Given the description of an element on the screen output the (x, y) to click on. 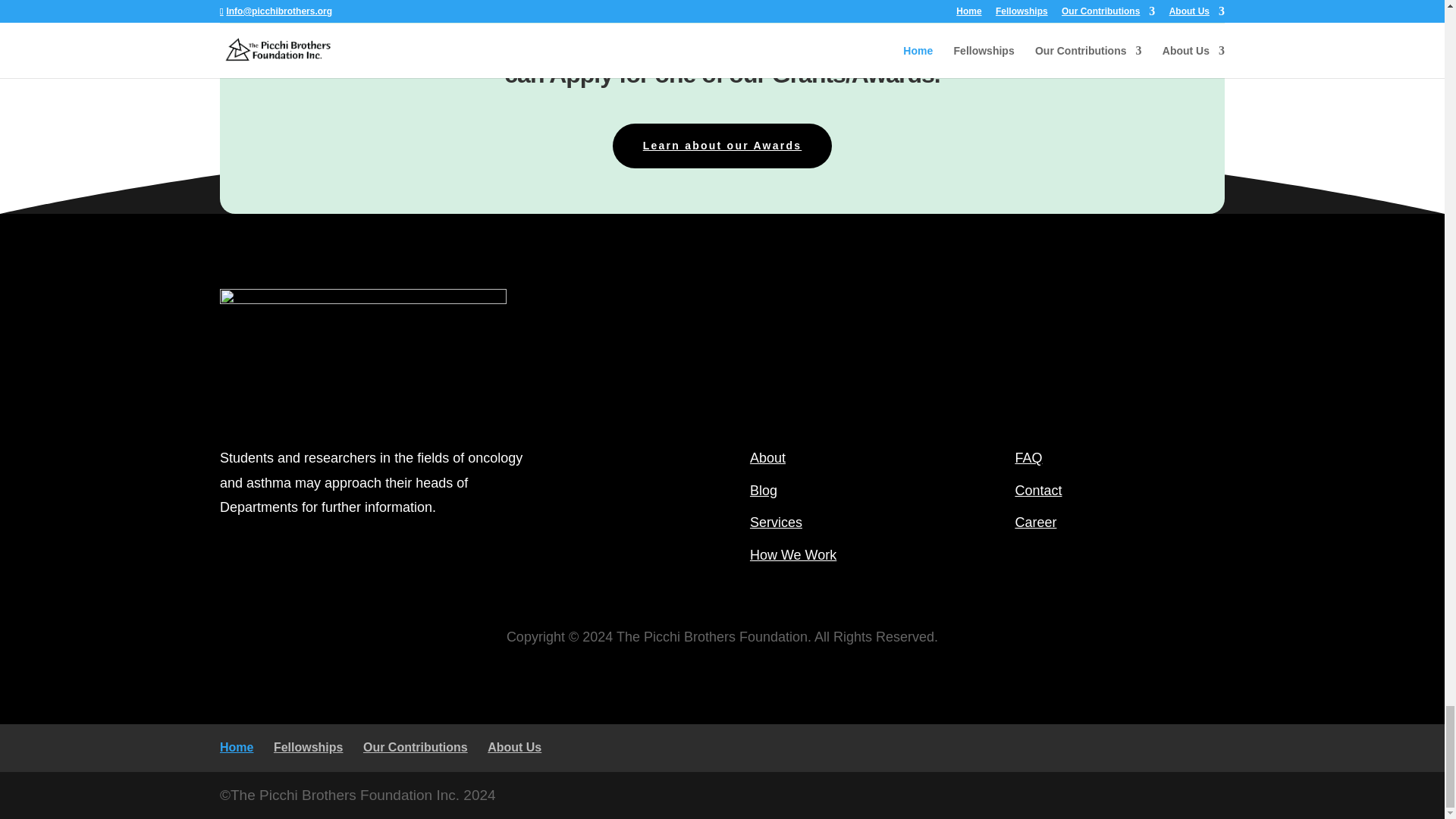
PicchiLogo2024 v2 Rev WtTxt sm (362, 354)
